Given the description of an element on the screen output the (x, y) to click on. 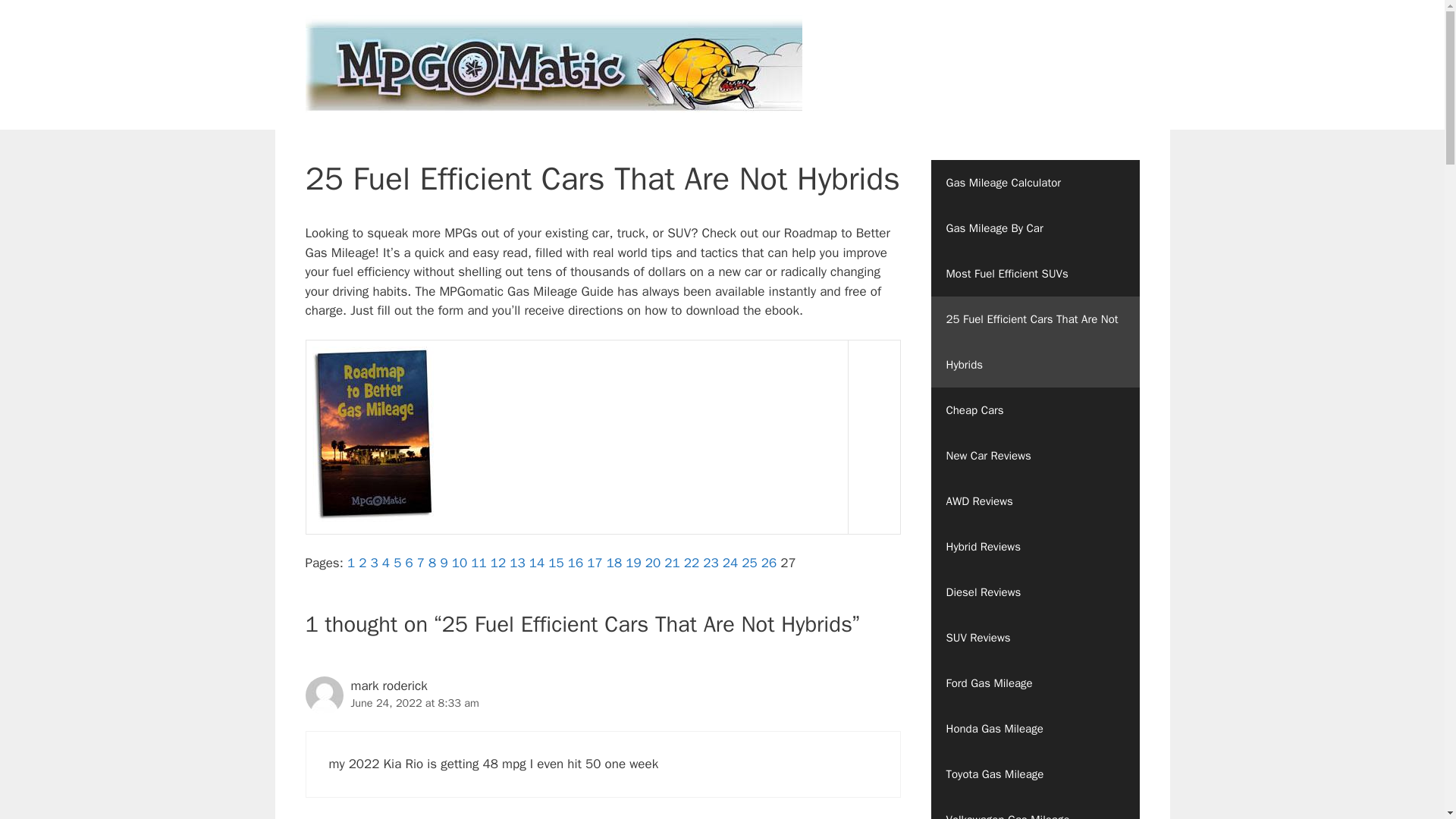
New Car Reviews (1035, 455)
16 (575, 562)
18 (614, 562)
21 (671, 562)
17 (594, 562)
10 (459, 562)
14 (536, 562)
22 (691, 562)
June 24, 2022 at 8:33 am (414, 703)
13 (516, 562)
